Given the description of an element on the screen output the (x, y) to click on. 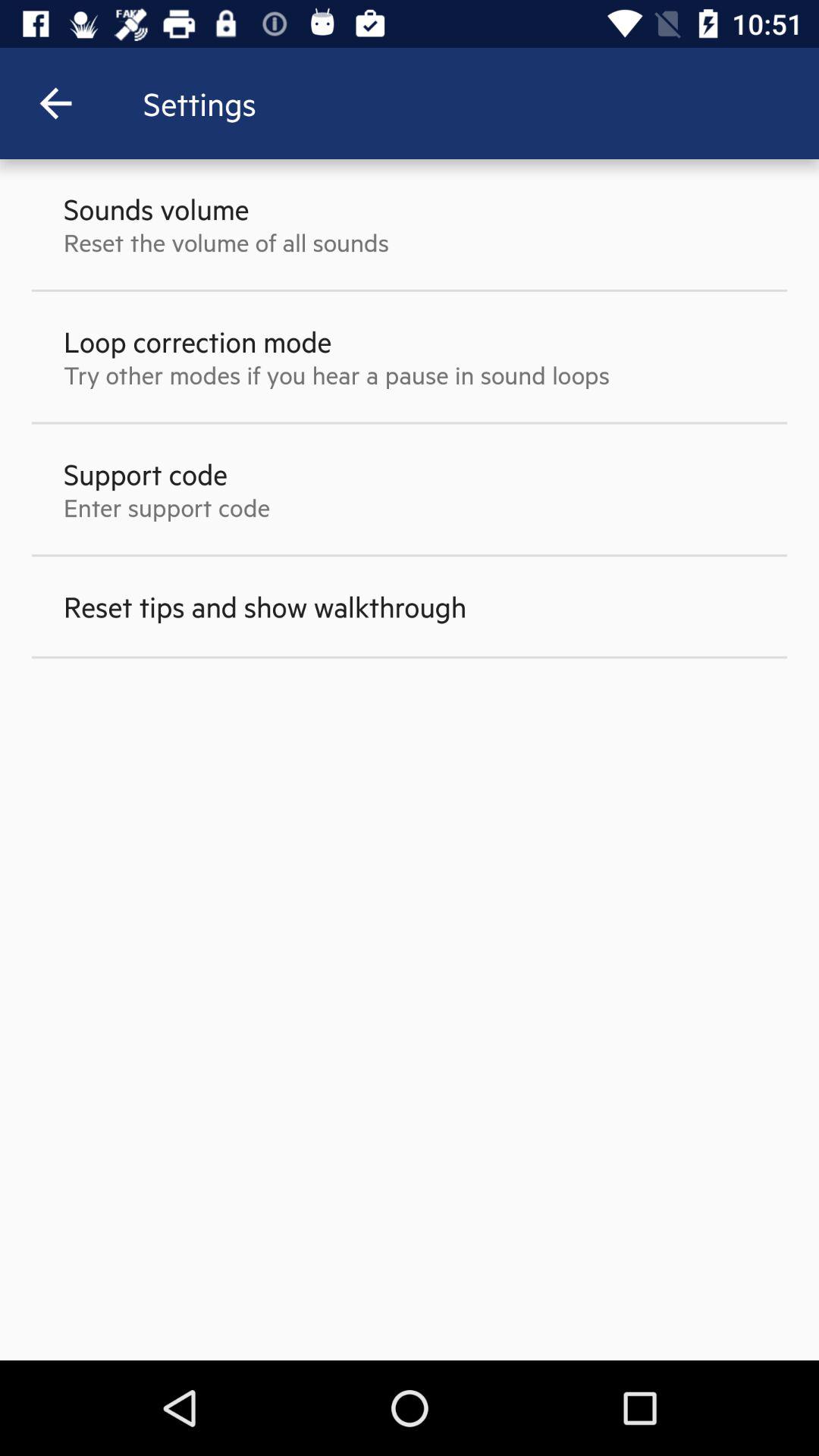
click the icon above try other modes icon (197, 341)
